Given the description of an element on the screen output the (x, y) to click on. 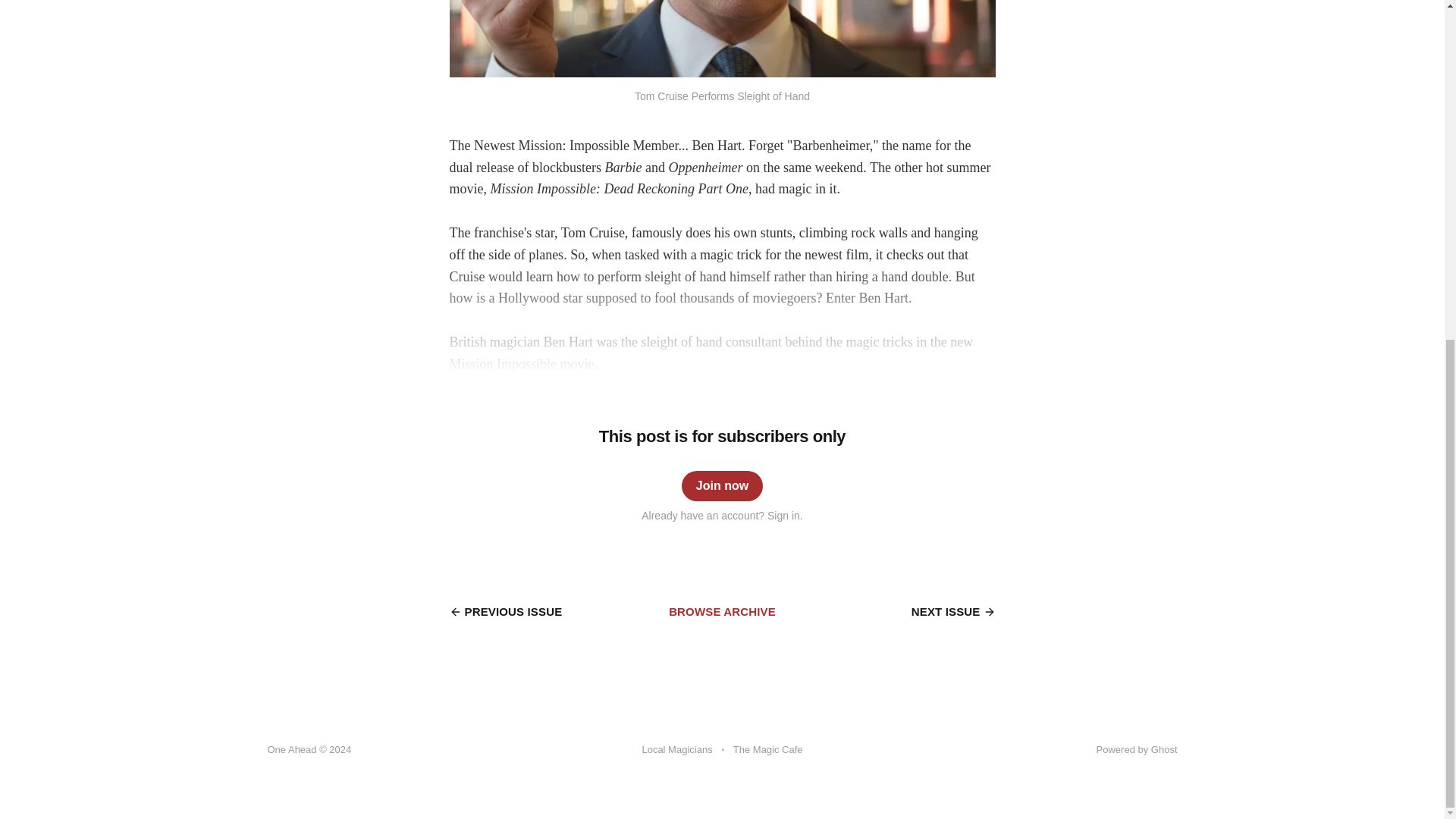
Join now (721, 485)
BROWSE ARCHIVE (722, 611)
NEXT ISSUE (953, 611)
Powered by Ghost (1136, 749)
PREVIOUS ISSUE (505, 611)
Local Magicians (676, 750)
The Magic Cafe (768, 750)
